Given the description of an element on the screen output the (x, y) to click on. 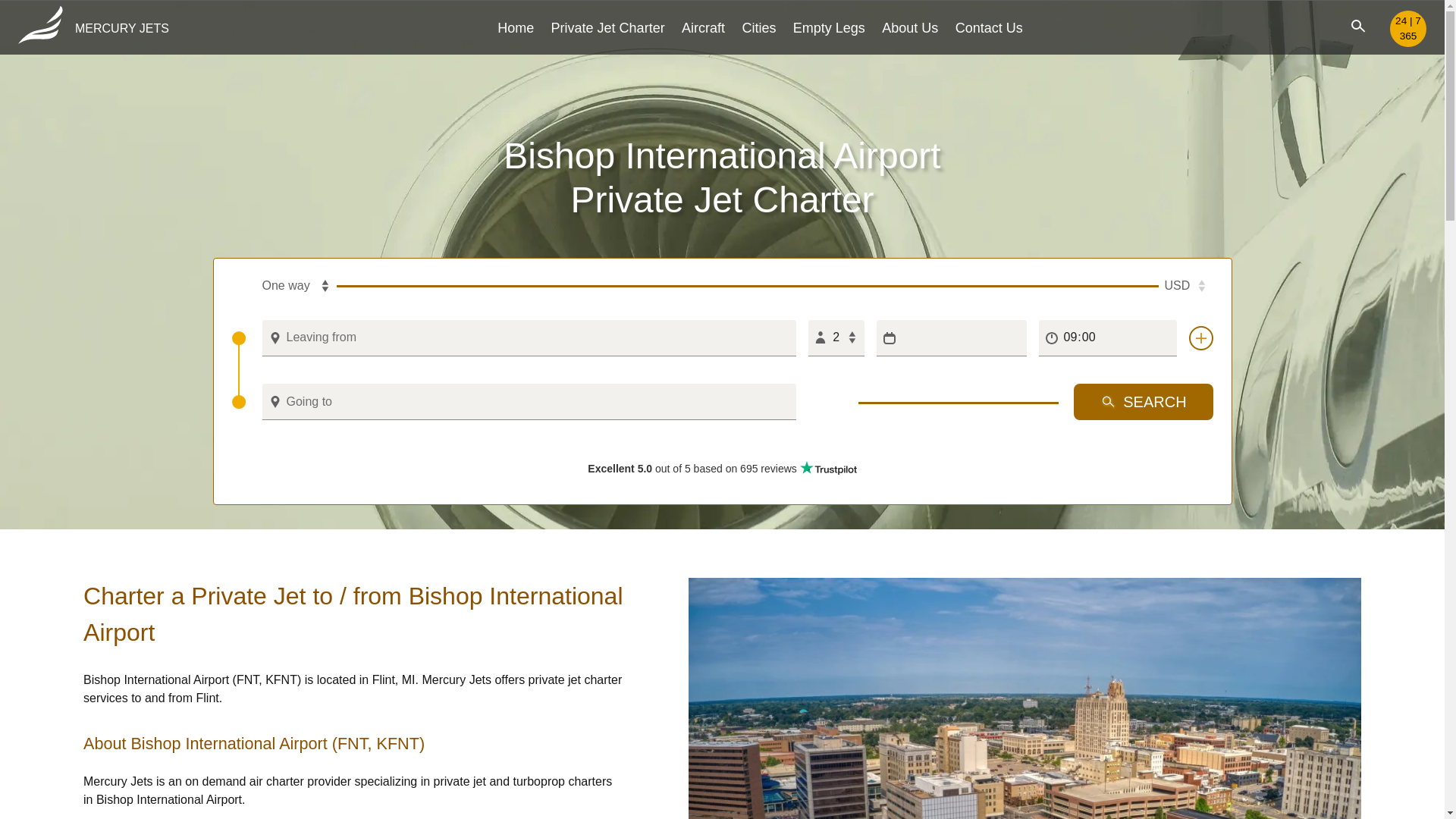
Cities (758, 27)
Contact Us (989, 27)
About Us (909, 27)
Private Jet Charter (608, 27)
Aircraft (703, 27)
SEARCH (1143, 402)
MERCURY JETS (92, 28)
Excellent 5.0 out of 5 based on 695 reviews (722, 468)
09:00 (1107, 338)
Home (515, 27)
